Given the description of an element on the screen output the (x, y) to click on. 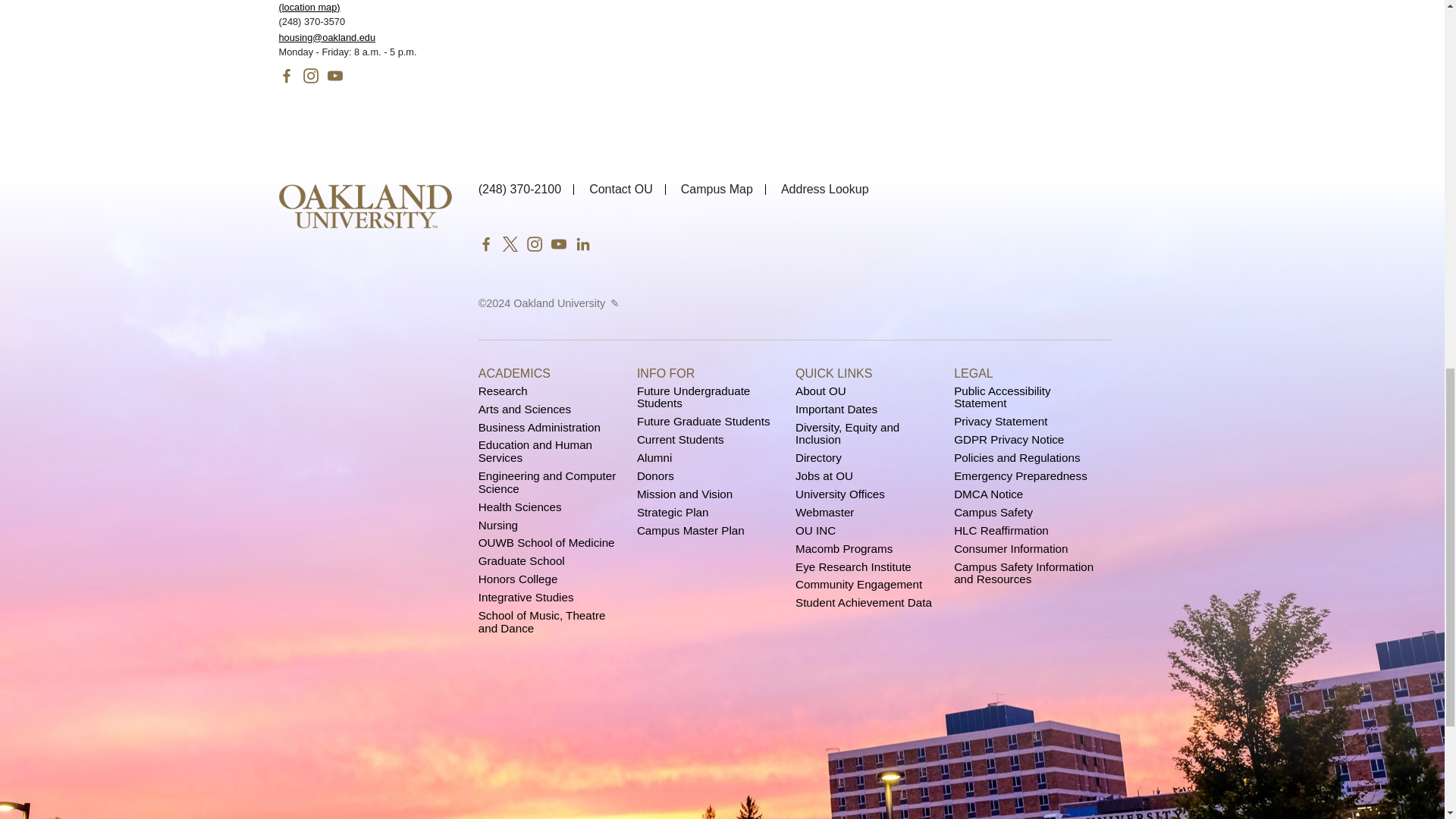
Visit our Youtube account (558, 243)
See this location on Oakland University map (309, 7)
Visit our Instagram account (534, 243)
Visit our Facebook page (286, 75)
Visit our Facebook page (486, 243)
Visit our LinkedIn account (583, 243)
Visit our Instagram account (310, 75)
Visit our Twitter account (510, 243)
Visit our Youtube account (334, 75)
